Given the description of an element on the screen output the (x, y) to click on. 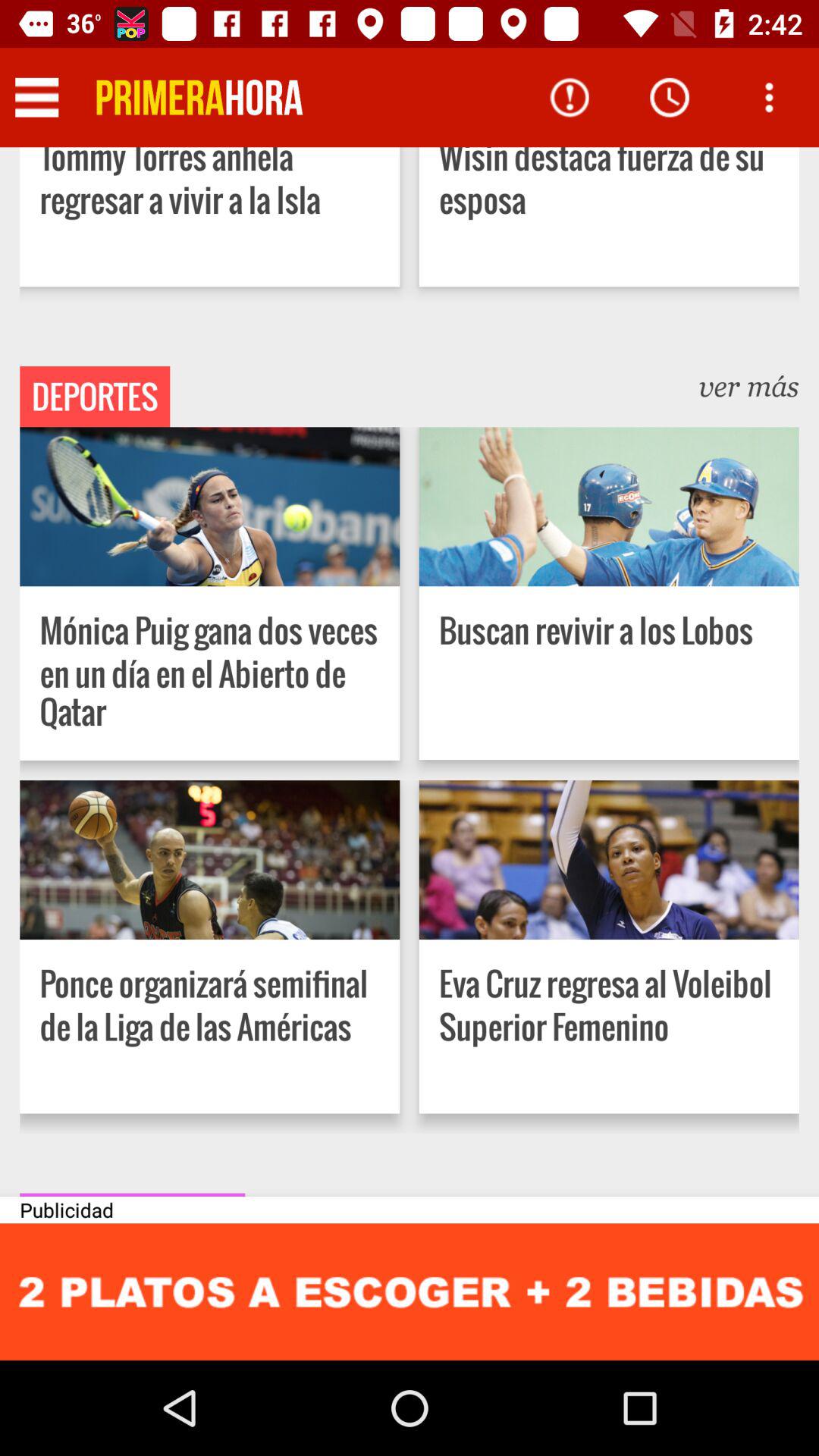
dropdown menu (36, 97)
